Given the description of an element on the screen output the (x, y) to click on. 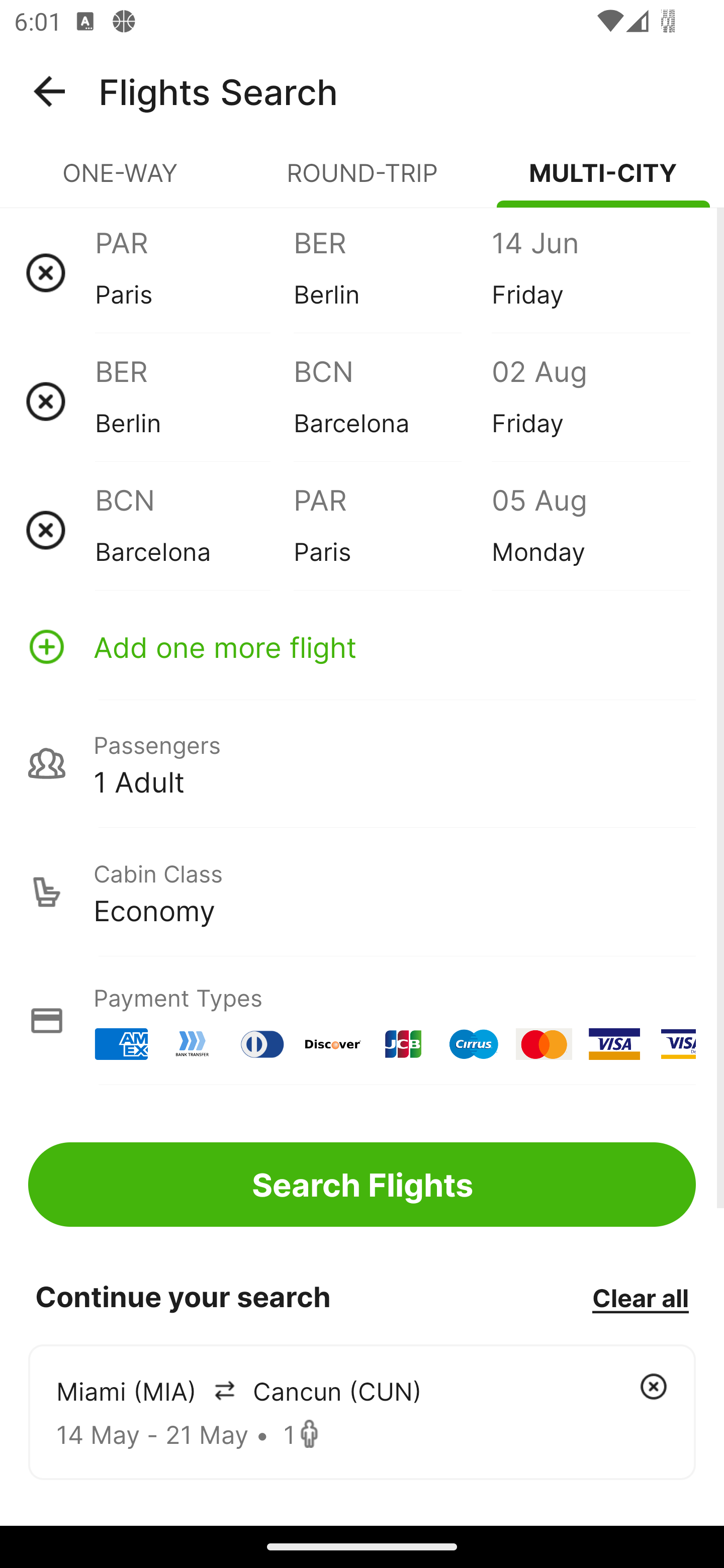
ONE-WAY (120, 180)
ROUND-TRIP (361, 180)
MULTI-CITY (603, 180)
PAR Paris (193, 272)
BER Berlin (392, 272)
14 Jun Friday (590, 272)
BER Berlin (193, 401)
BCN Barcelona (392, 401)
02 Aug Friday (590, 401)
BCN Barcelona (193, 529)
PAR Paris (392, 529)
05 Aug Monday (590, 529)
Add one more flight (362, 646)
Passengers 1 Adult (362, 762)
Cabin Class Economy (362, 891)
Payment Types (362, 1020)
Search Flights (361, 1184)
Clear all (640, 1297)
